Given the description of an element on the screen output the (x, y) to click on. 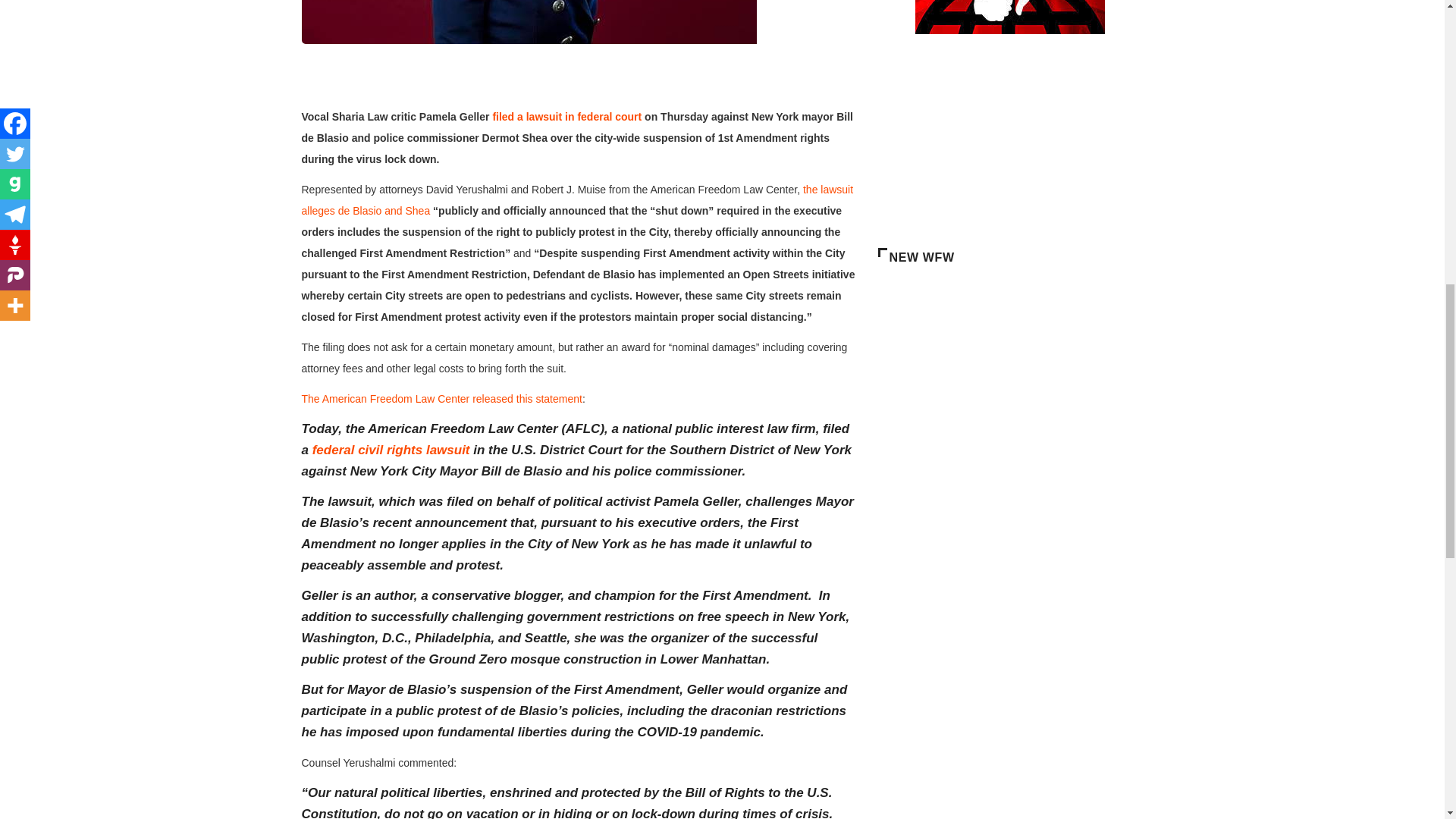
filed a lawsuit in federal court (567, 116)
federal civil rights lawsuit (391, 450)
the lawsuit alleges de Blasio and Shea (577, 200)
The American Freedom Law Center released this statement (441, 398)
